Given the description of an element on the screen output the (x, y) to click on. 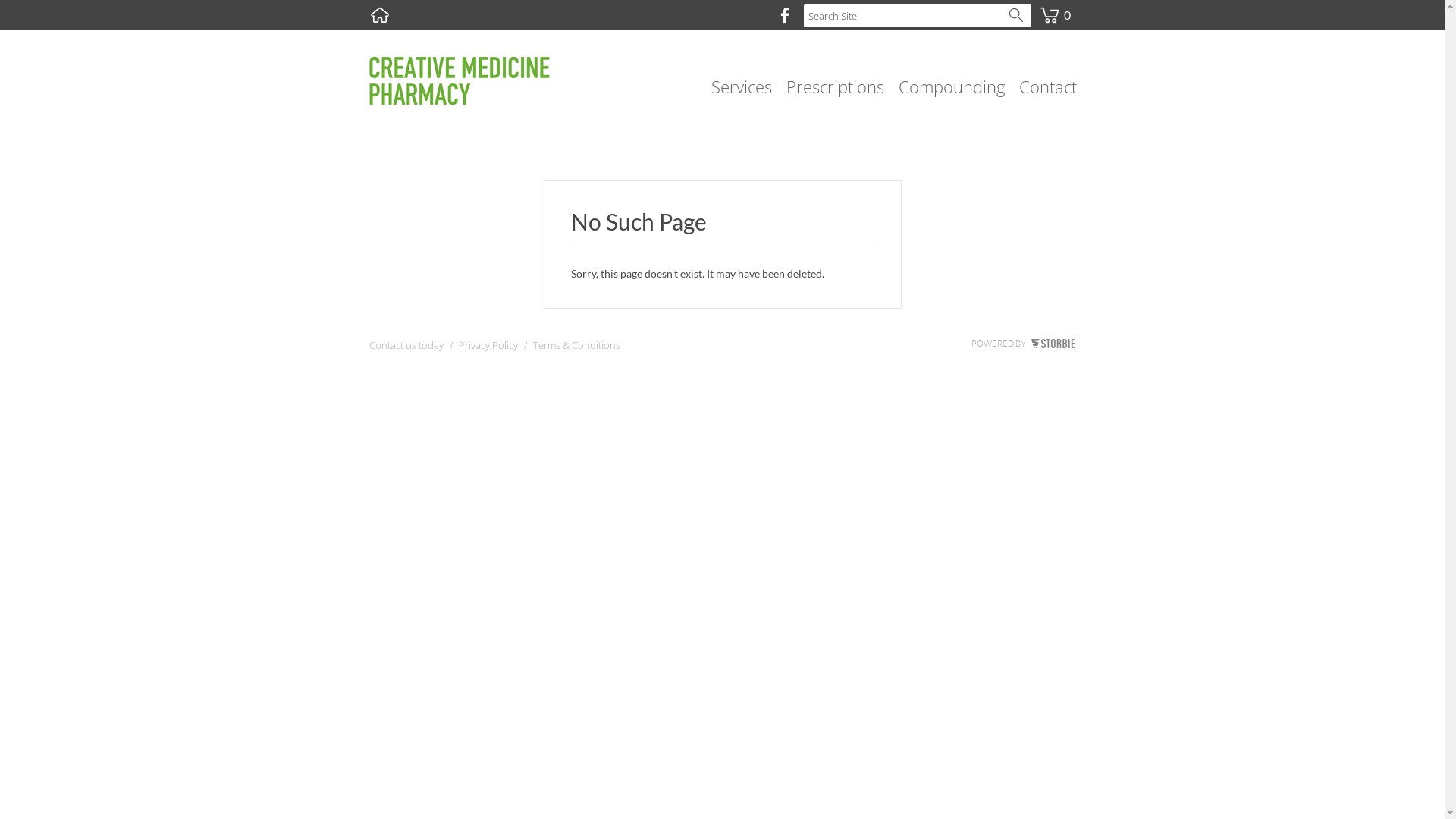
Prescriptions Element type: text (834, 86)
Services Element type: text (741, 86)
Home Element type: hover (379, 15)
Facebook Element type: hover (783, 15)
  Element type: text (379, 15)
Terms & Conditions Element type: text (575, 348)
Contact Element type: text (1047, 86)
POWERED BY Element type: text (1022, 343)
Compounding Element type: text (950, 86)
Contact us today Element type: text (405, 348)
Privacy Policy Element type: text (487, 348)
  0 Element type: text (1054, 6)
